Given the description of an element on the screen output the (x, y) to click on. 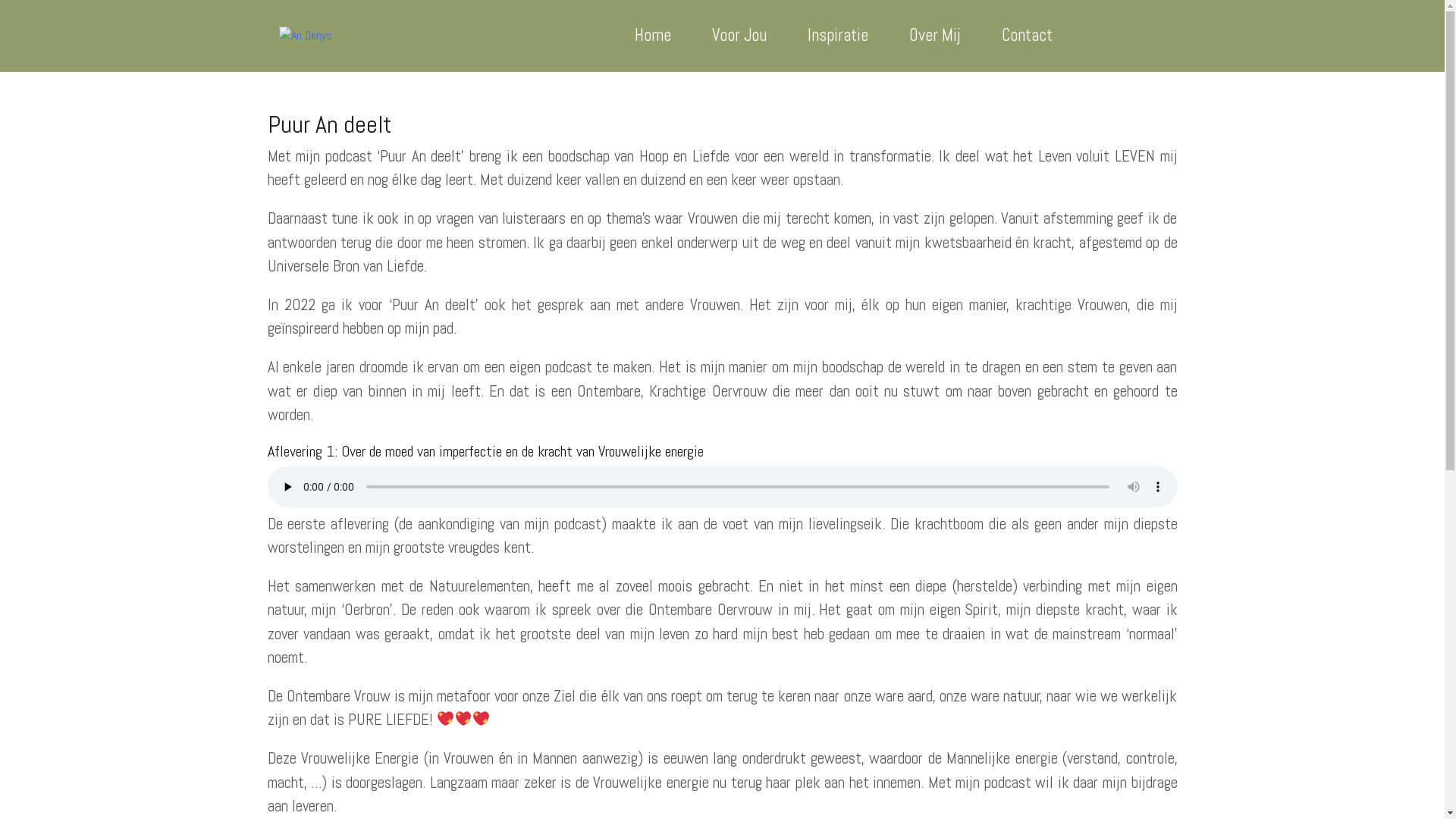
Voor Jou Element type: text (738, 35)
Contact Element type: text (1026, 35)
Inspiratie Element type: text (836, 35)
Over Mij Element type: text (934, 35)
Home Element type: text (651, 35)
